Given the description of an element on the screen output the (x, y) to click on. 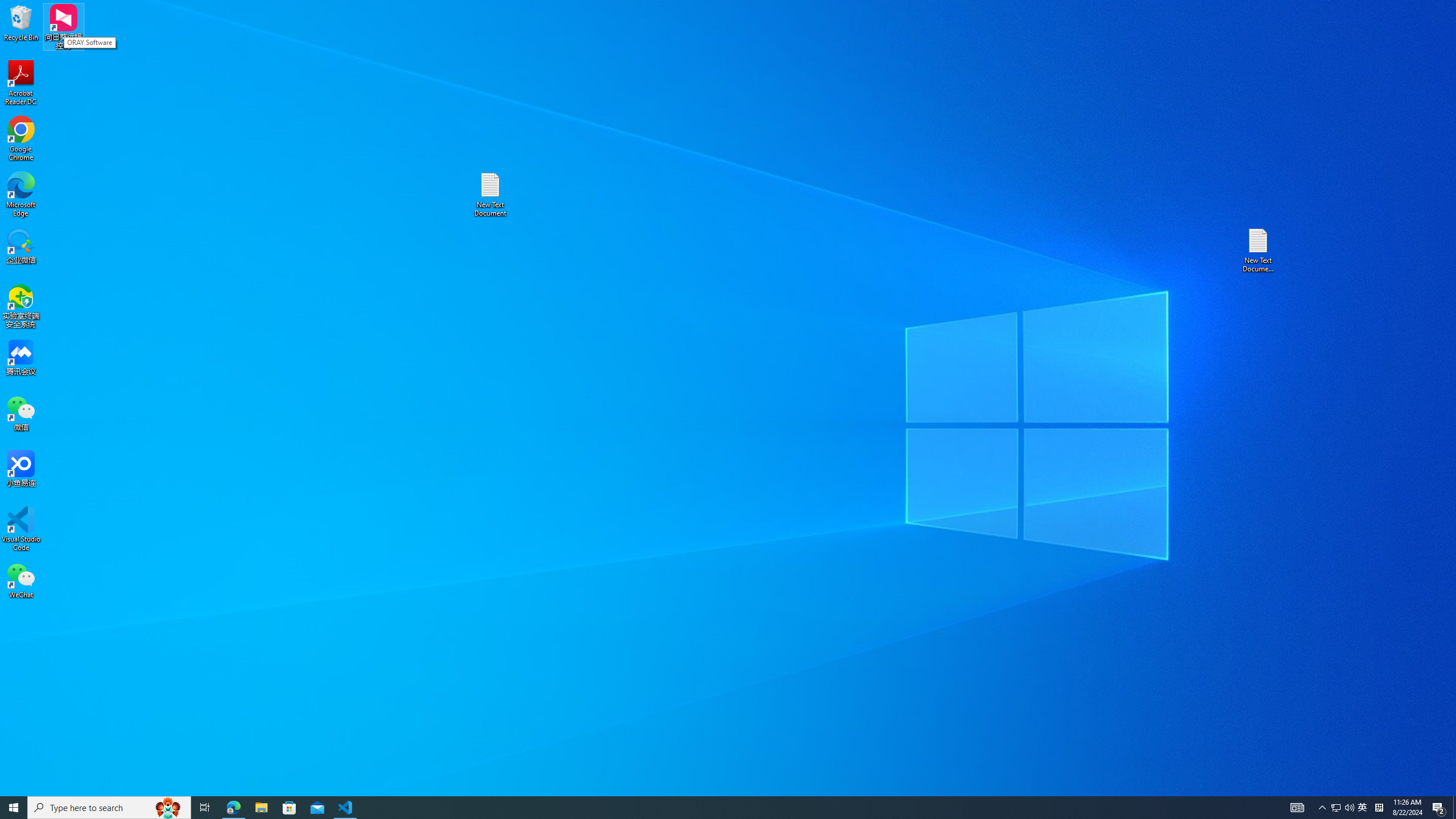
AutomationID: 4105 (1297, 807)
Microsoft Edge - 1 running window (233, 807)
Type here to search (108, 807)
Visual Studio Code - 1 running window (345, 807)
